Given the description of an element on the screen output the (x, y) to click on. 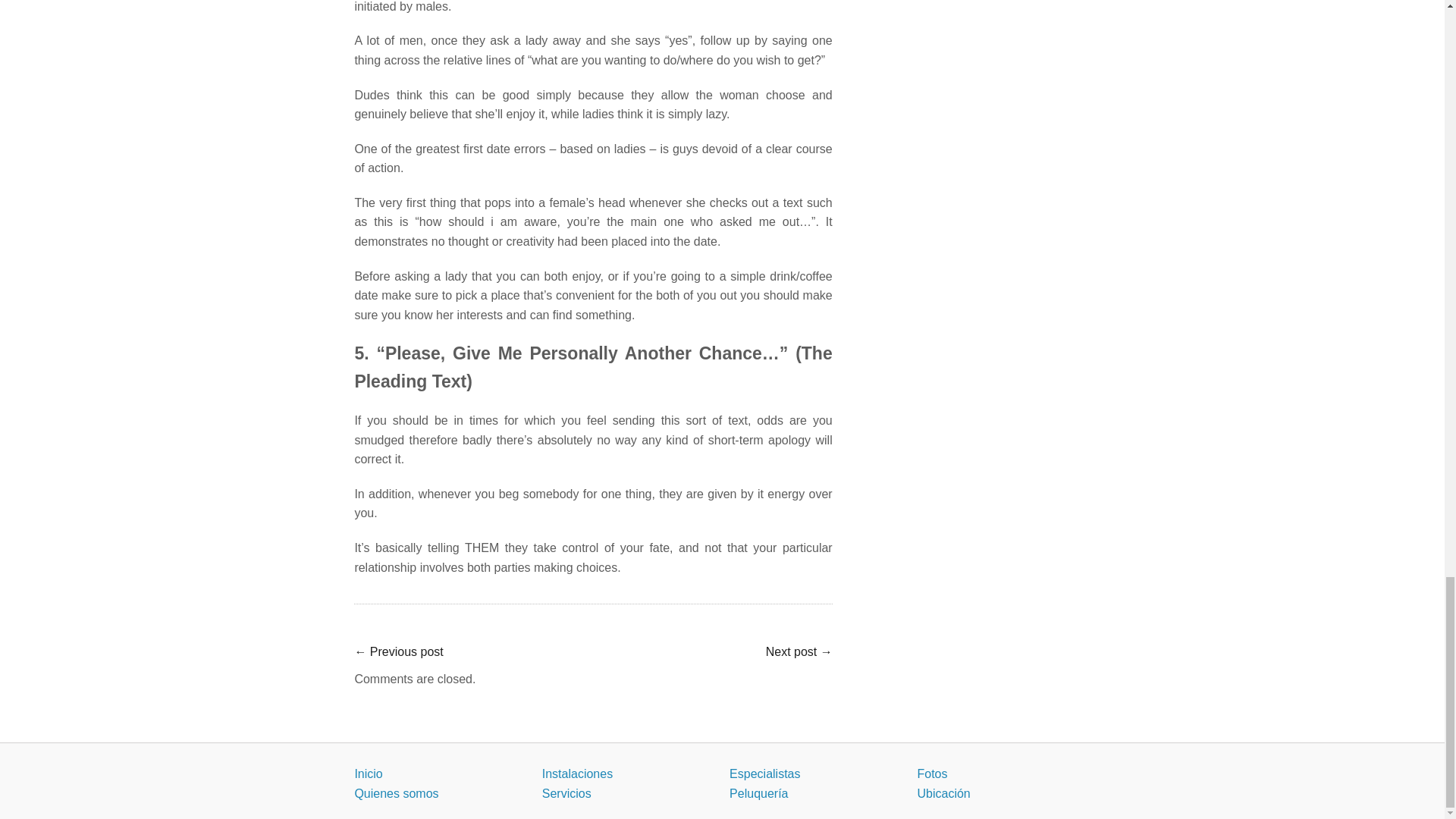
Instalaciones (576, 773)
Inicio (367, 773)
Fotos (932, 773)
Quienes somos (395, 793)
Especialistas (764, 773)
Servicios (566, 793)
